Given the description of an element on the screen output the (x, y) to click on. 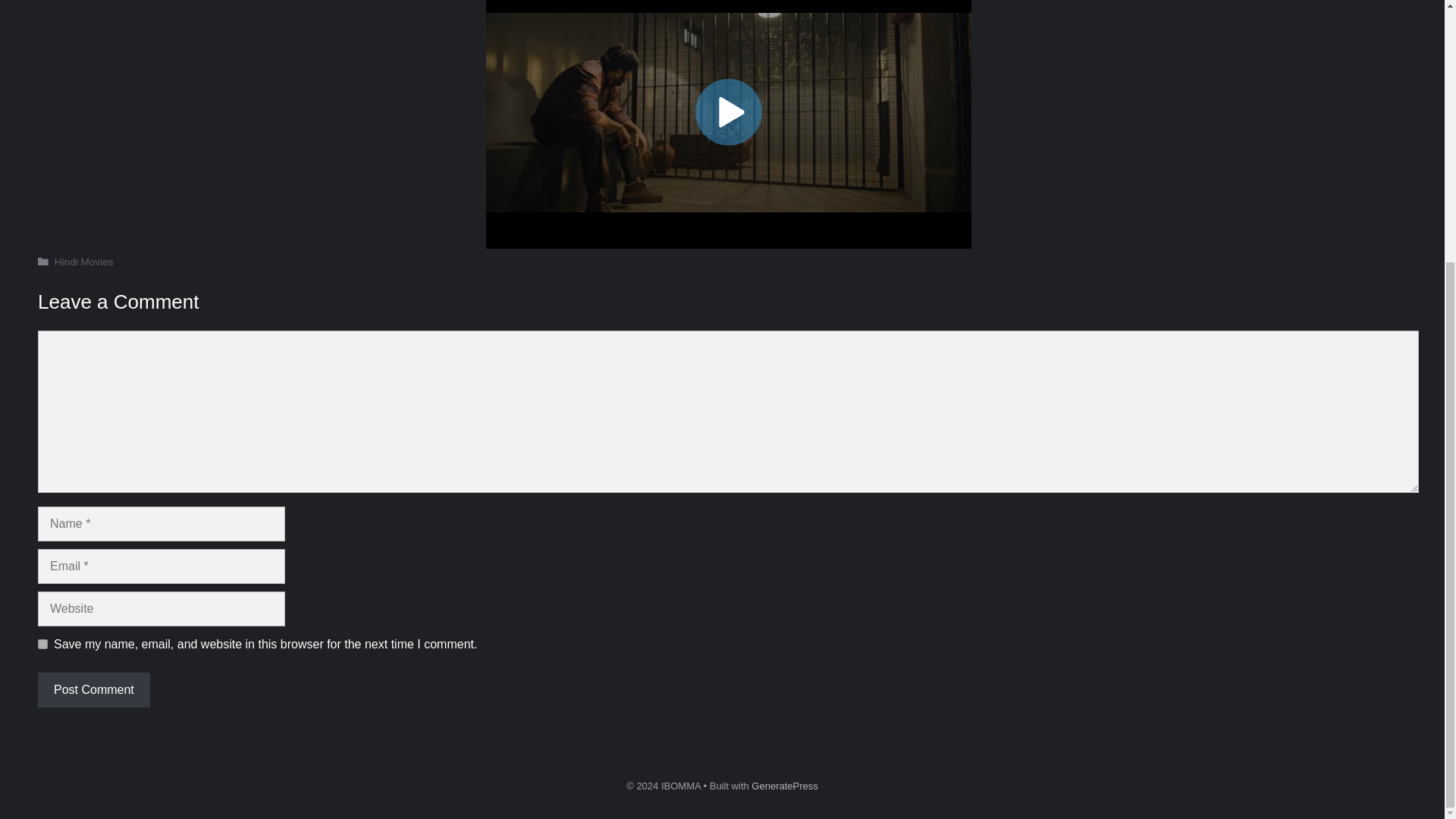
Post Comment (93, 689)
yes (42, 644)
Post Comment (93, 689)
GeneratePress (783, 785)
Hindi Movies (84, 261)
